Given the description of an element on the screen output the (x, y) to click on. 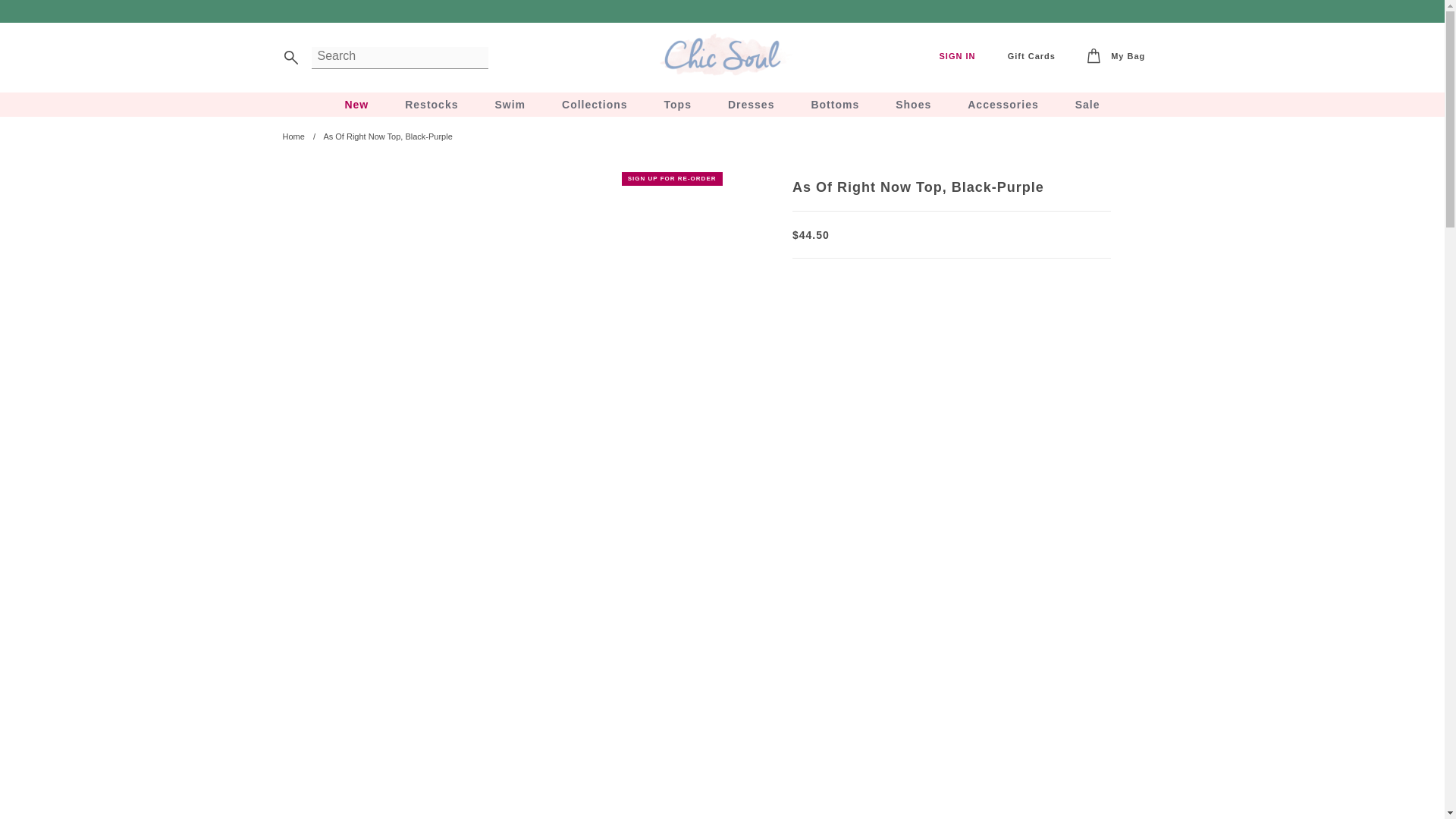
SIGN IN (957, 55)
New (355, 104)
Collections (594, 104)
Restocks (431, 104)
Swim (510, 104)
Go to Shopping Cart (1115, 57)
Gift Cards (1031, 55)
